Given the description of an element on the screen output the (x, y) to click on. 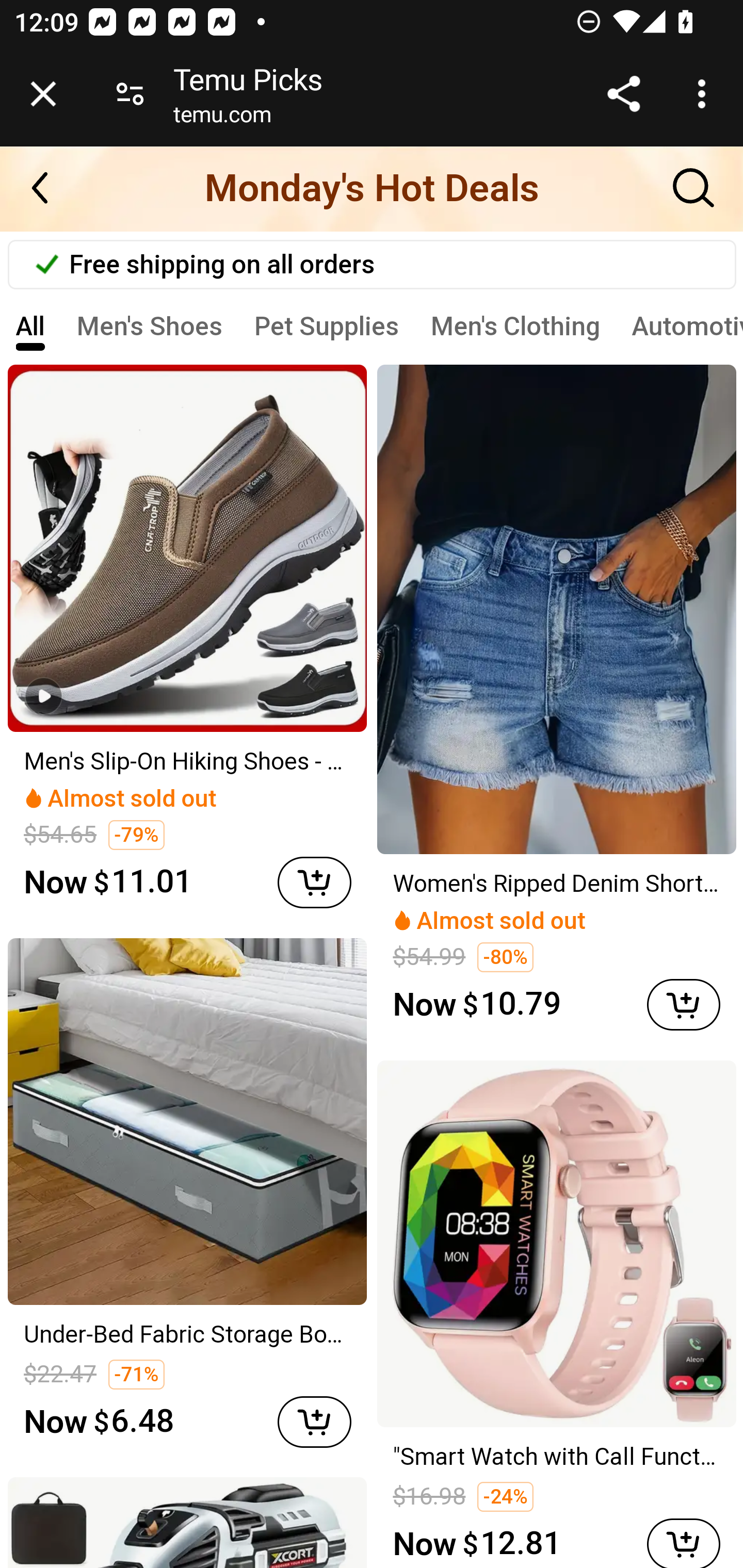
Close tab (43, 93)
Share link address (623, 93)
Customize and control Google Chrome (705, 93)
Connection is secure (129, 93)
temu.com (222, 117)
Back (50, 188)
